Given the description of an element on the screen output the (x, y) to click on. 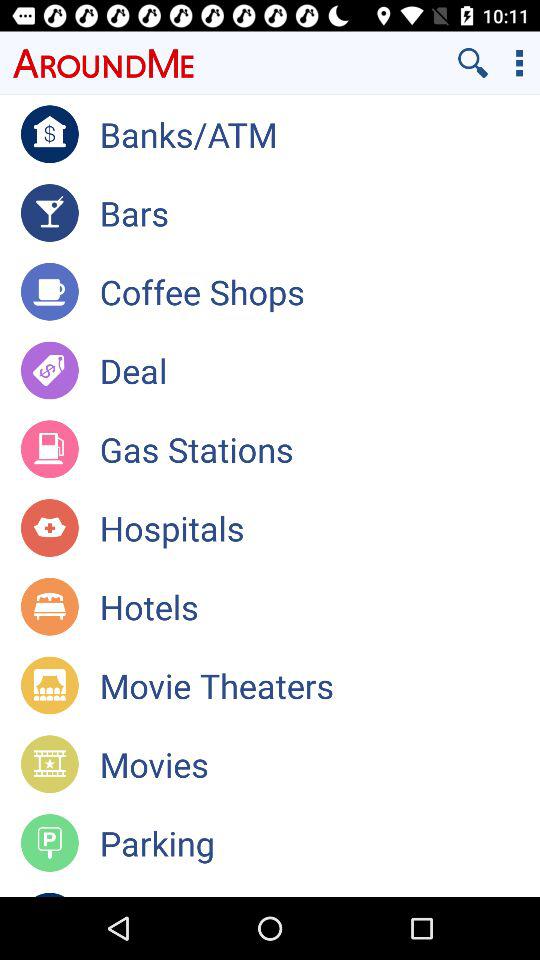
launch app above parking (319, 764)
